Given the description of an element on the screen output the (x, y) to click on. 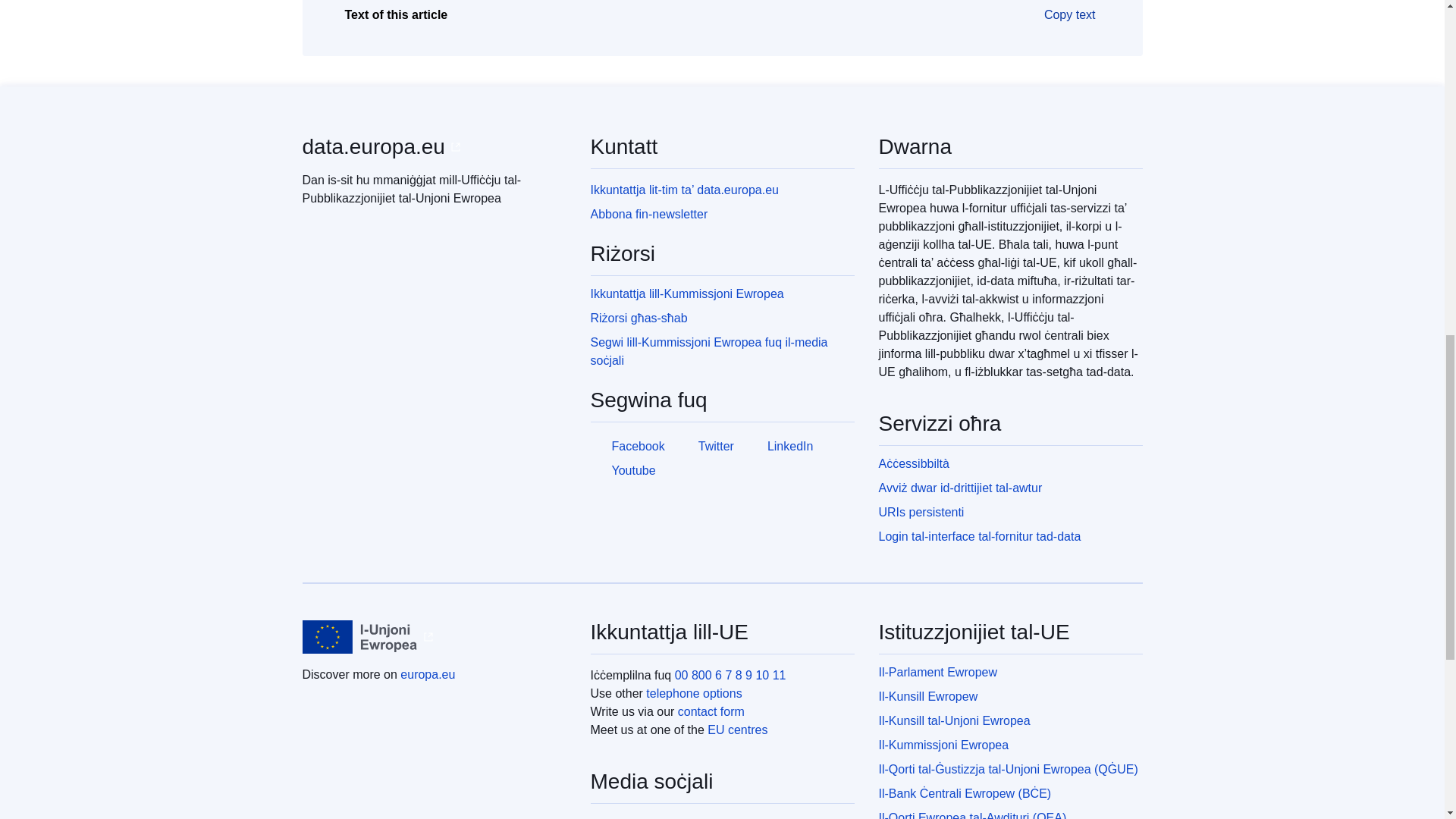
European Union (358, 636)
